Given the description of an element on the screen output the (x, y) to click on. 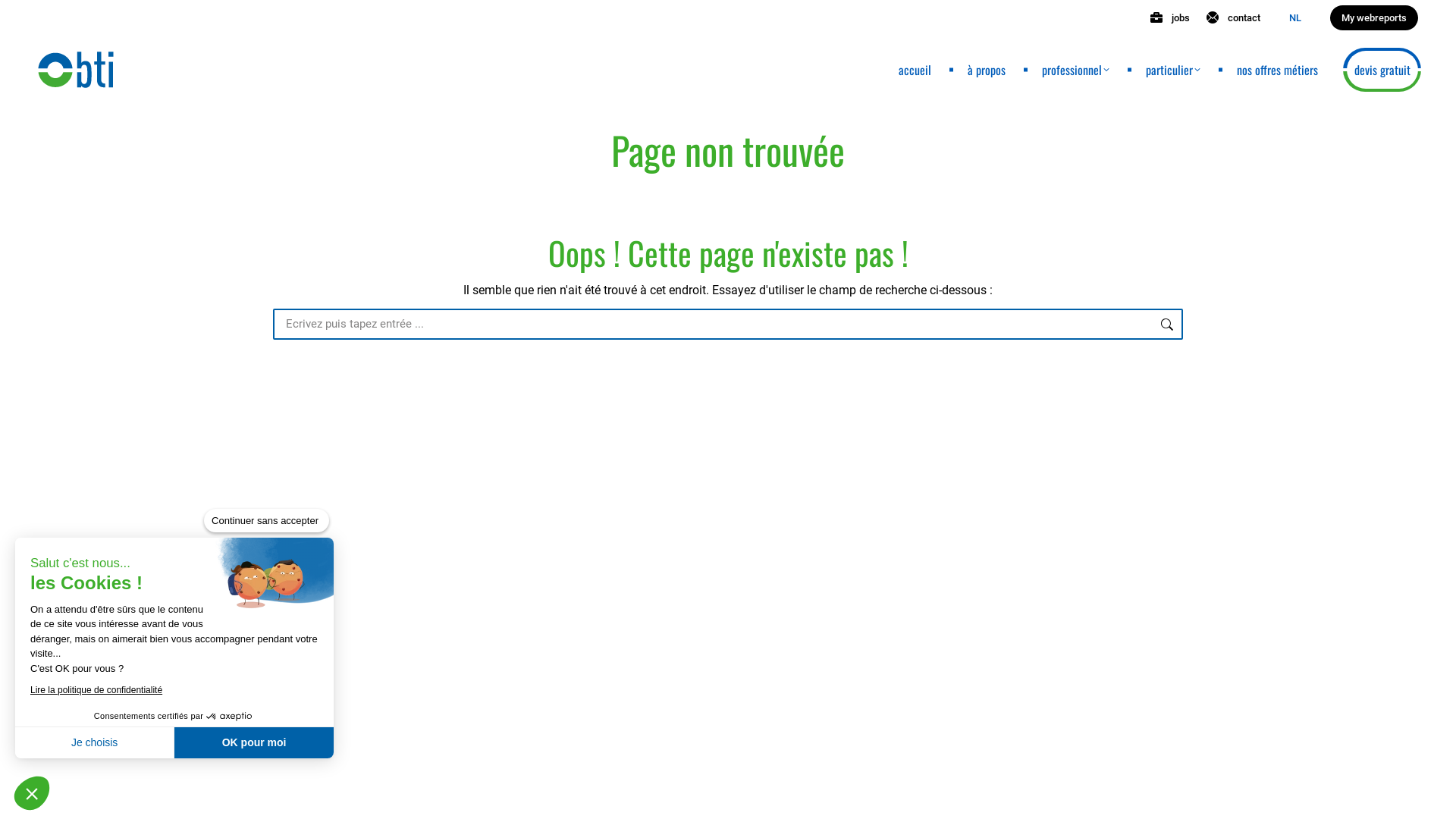
jobs Element type: text (1168, 17)
devis gratuit Element type: text (1382, 69)
contact Element type: text (1232, 17)
My webreports Element type: text (1374, 17)
particulier Element type: text (1173, 69)
accueil Element type: text (914, 69)
professionnel Element type: text (1075, 69)
Aller ! Element type: text (1211, 326)
NL Element type: text (1294, 17)
